Given the description of an element on the screen output the (x, y) to click on. 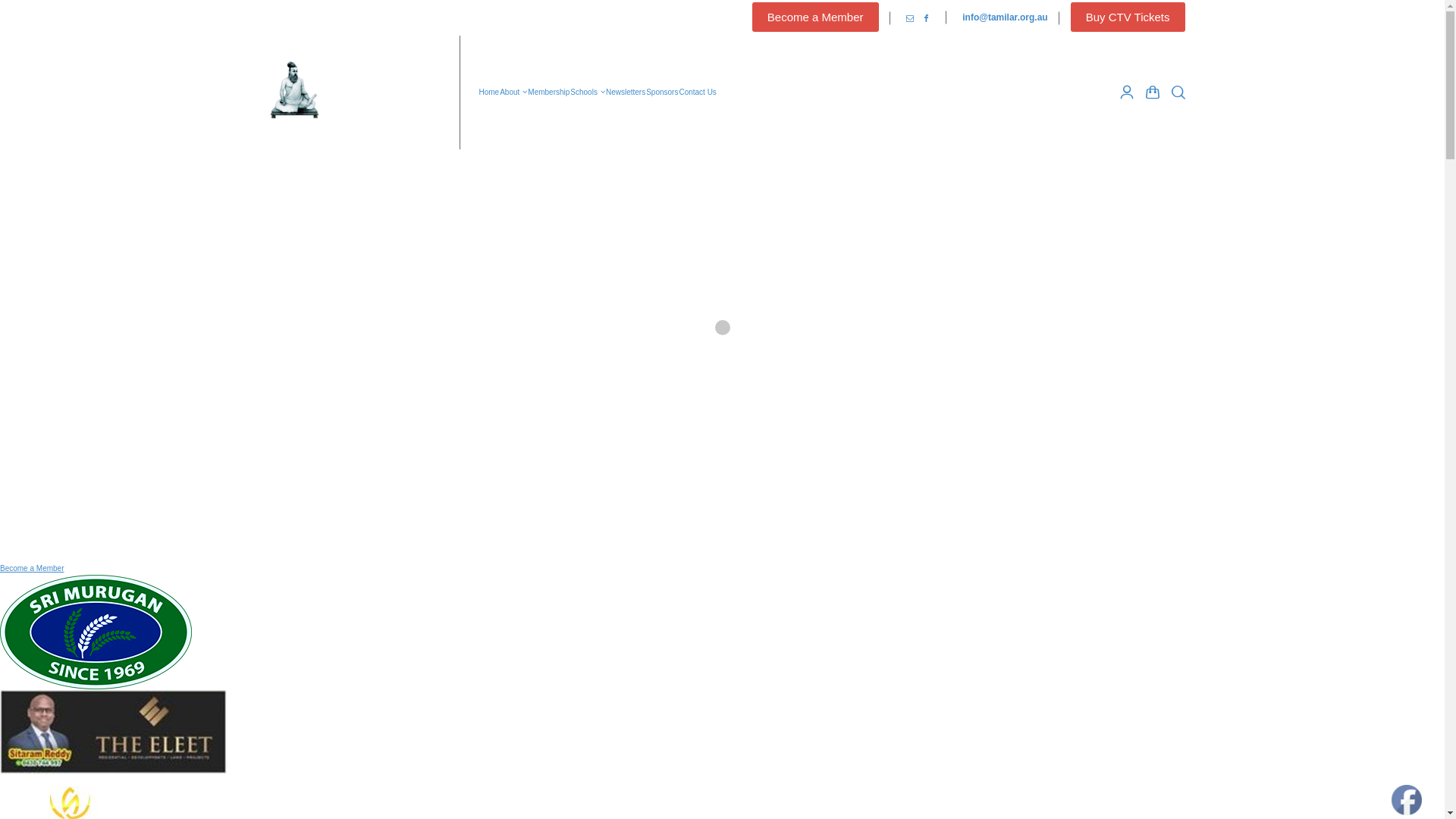
About Element type: text (513, 92)
Email Element type: hover (909, 18)
Become a Member Element type: text (31, 568)
Sponsors Element type: text (662, 92)
info@tamilar.org.au Element type: text (1004, 17)
Schools Element type: text (587, 92)
Search Element type: hover (1174, 92)
Membership Element type: text (548, 92)
Contact Us Element type: text (697, 92)
Facebook Element type: hover (1406, 799)
Buy CTV Tickets Element type: text (1127, 16)
Facebook Element type: hover (926, 18)
Home Element type: text (488, 92)
Newsletters Element type: text (625, 92)
Become a Member Element type: text (815, 16)
Tamilar Inc. Element type: hover (350, 92)
